Given the description of an element on the screen output the (x, y) to click on. 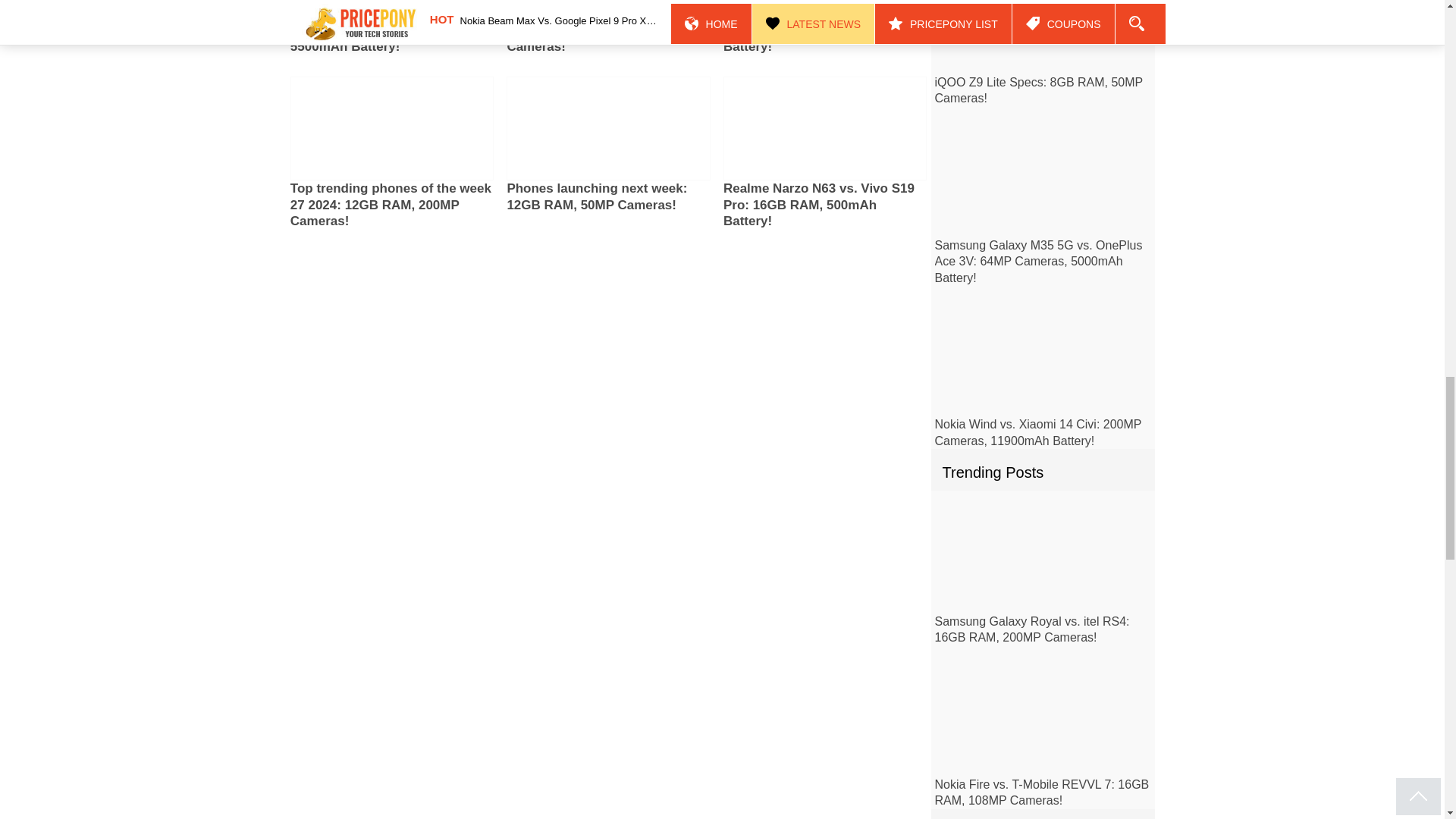
Top Android phones on AnTuTu 2024: 24GB RAM, 200MP Cameras! (603, 30)
